Given the description of an element on the screen output the (x, y) to click on. 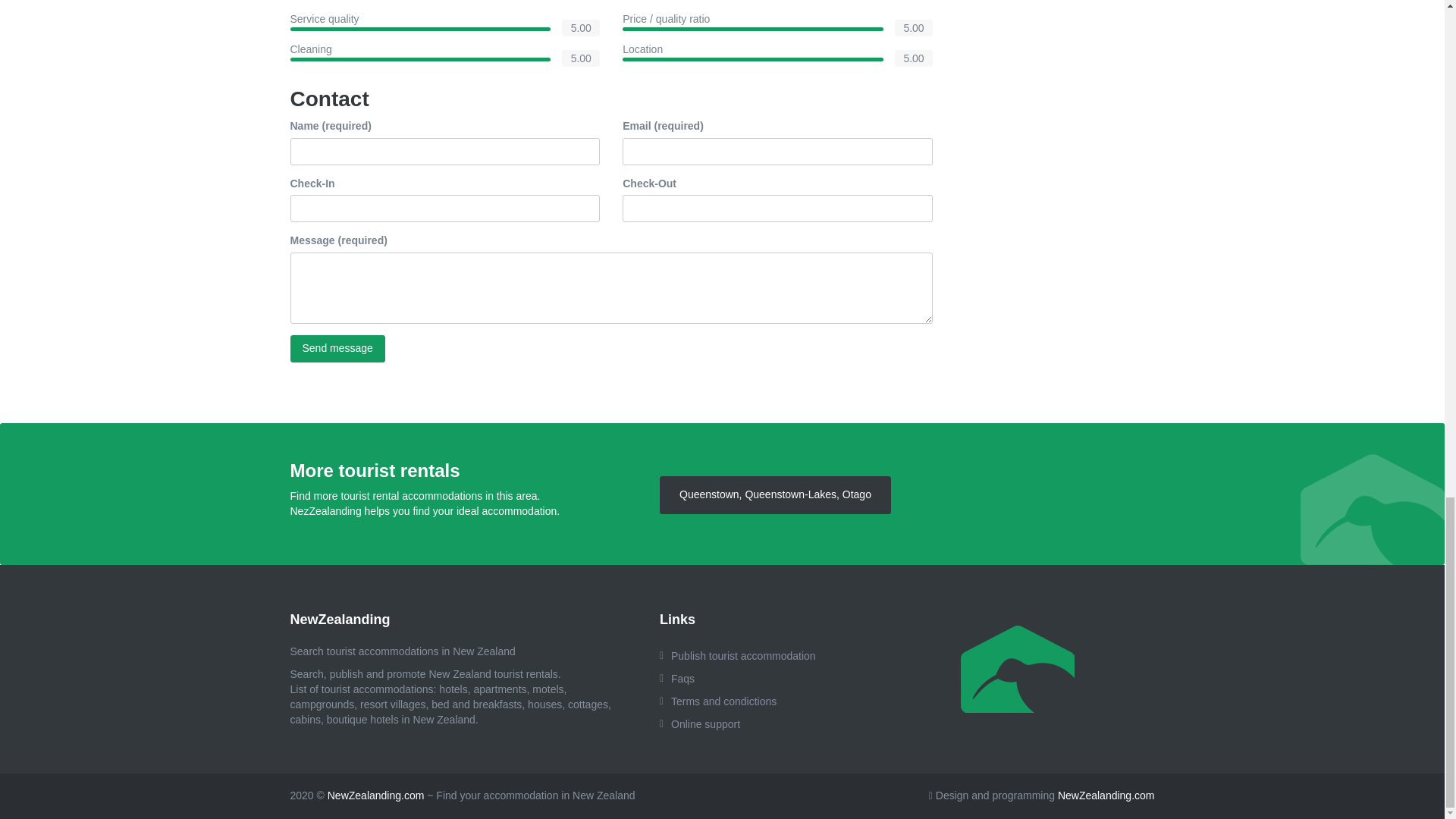
NewZealanding.com (1106, 795)
Send message (336, 348)
Queenstown, Queenstown-Lakes, Otago (775, 494)
NewZealanding.com (376, 795)
Faqs (759, 678)
Online support (759, 723)
Publish tourist accommodation (759, 655)
Terms and condictions (759, 701)
